Given the description of an element on the screen output the (x, y) to click on. 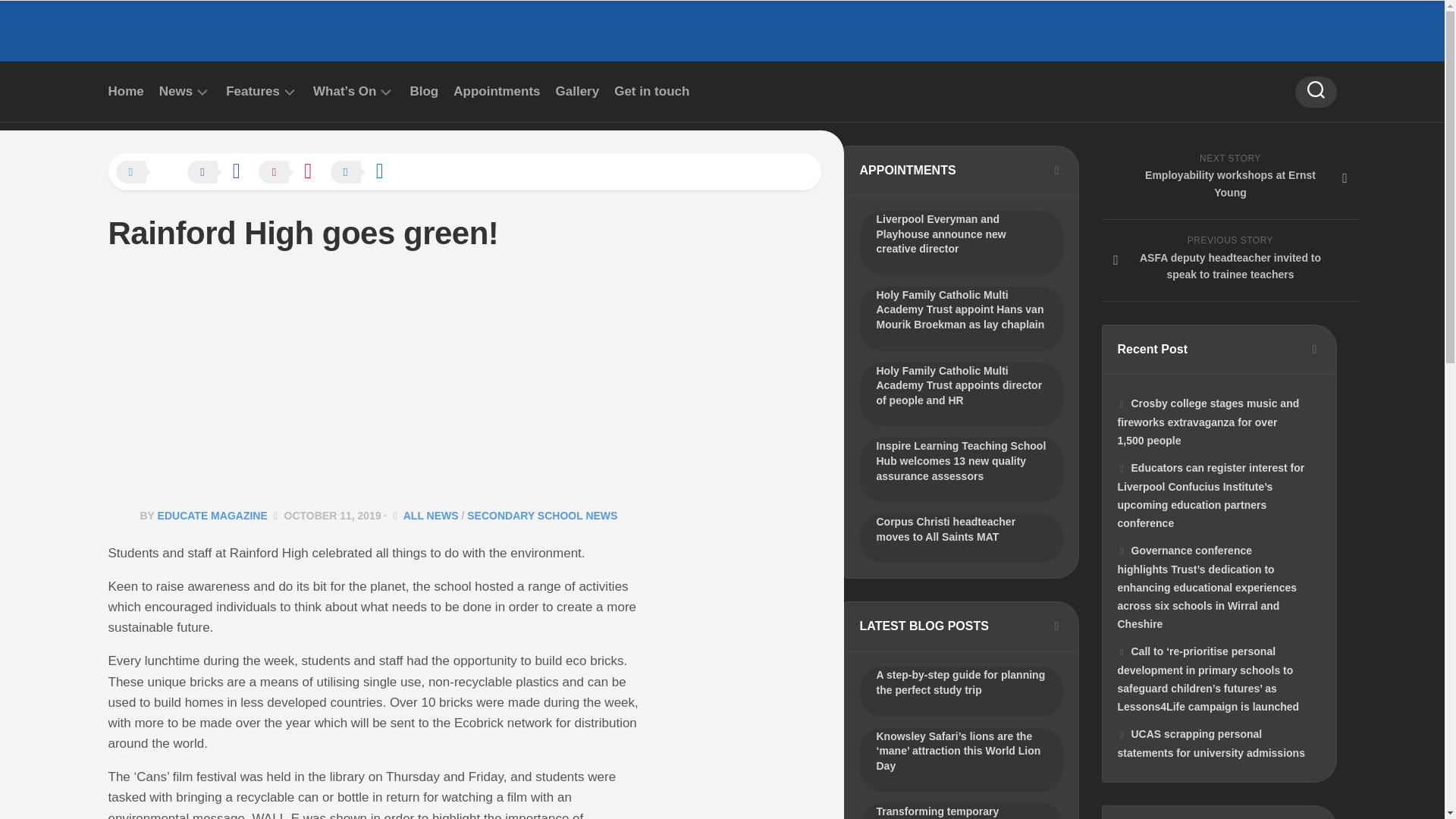
Posts by Educate Magazine (212, 515)
Appointments (496, 91)
News (175, 91)
SECONDARY SCHOOL NEWS (542, 515)
Share on Pinterest (292, 172)
Share on X (149, 172)
Get in touch (651, 91)
Share on Facebook (221, 172)
EDUCATE MAGAZINE (212, 515)
Share on LinkedIn (364, 172)
Home (124, 91)
Blog (423, 91)
ALL NEWS (430, 515)
Gallery (577, 91)
Features (252, 91)
